Given the description of an element on the screen output the (x, y) to click on. 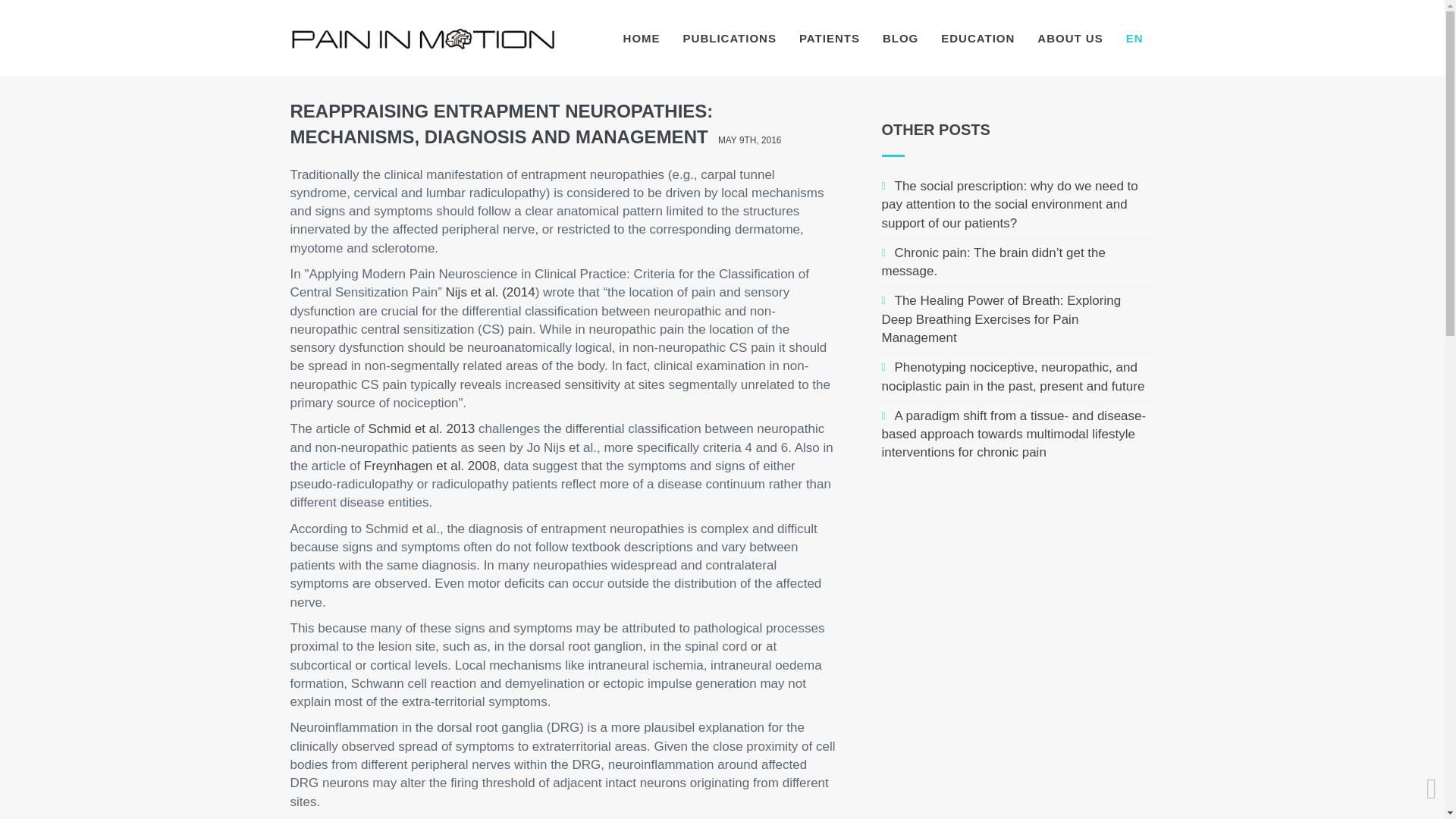
EDUCATION (978, 38)
Freynhagen et al. 2008 (430, 465)
ABOUT US (1069, 38)
PATIENTS (828, 38)
Schmid et al. 2013 (422, 428)
PUBLICATIONS (729, 38)
